Given the description of an element on the screen output the (x, y) to click on. 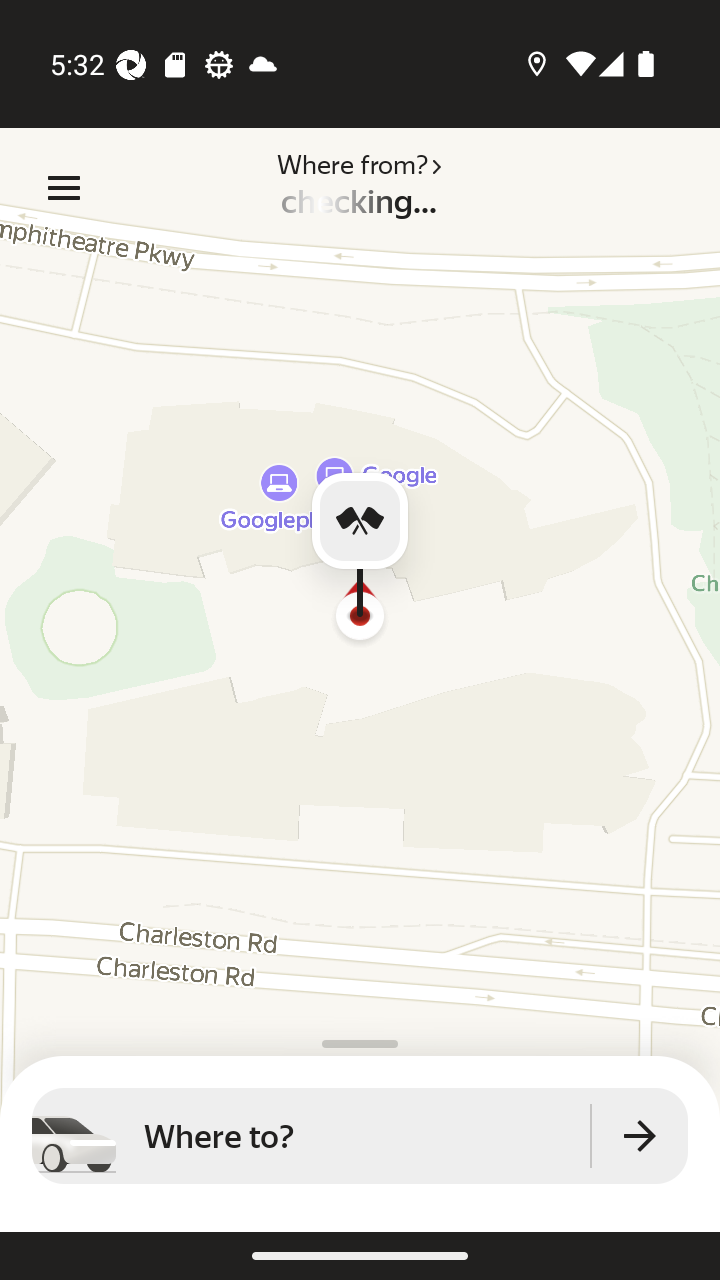
Menu Menu Menu (64, 188)
Where to? Where to? To the choice of address (359, 1136)
To the choice of address (639, 1136)
